Given the description of an element on the screen output the (x, y) to click on. 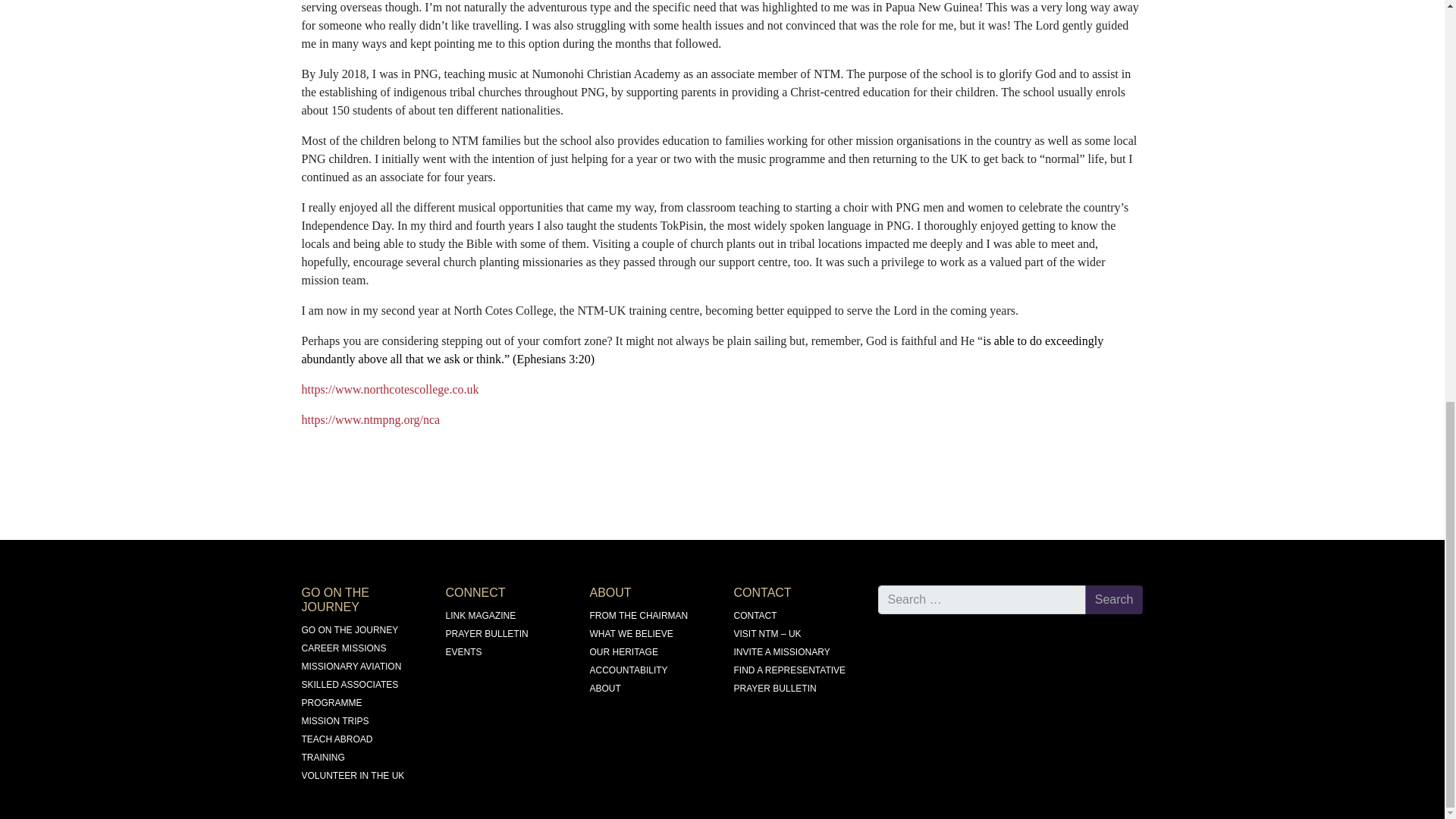
MISSIONARY AVIATION (351, 665)
SKILLED ASSOCIATES PROGRAMME (349, 693)
CAREER MISSIONS (344, 647)
GO ON THE JOURNEY (349, 629)
Search (1113, 599)
